Given the description of an element on the screen output the (x, y) to click on. 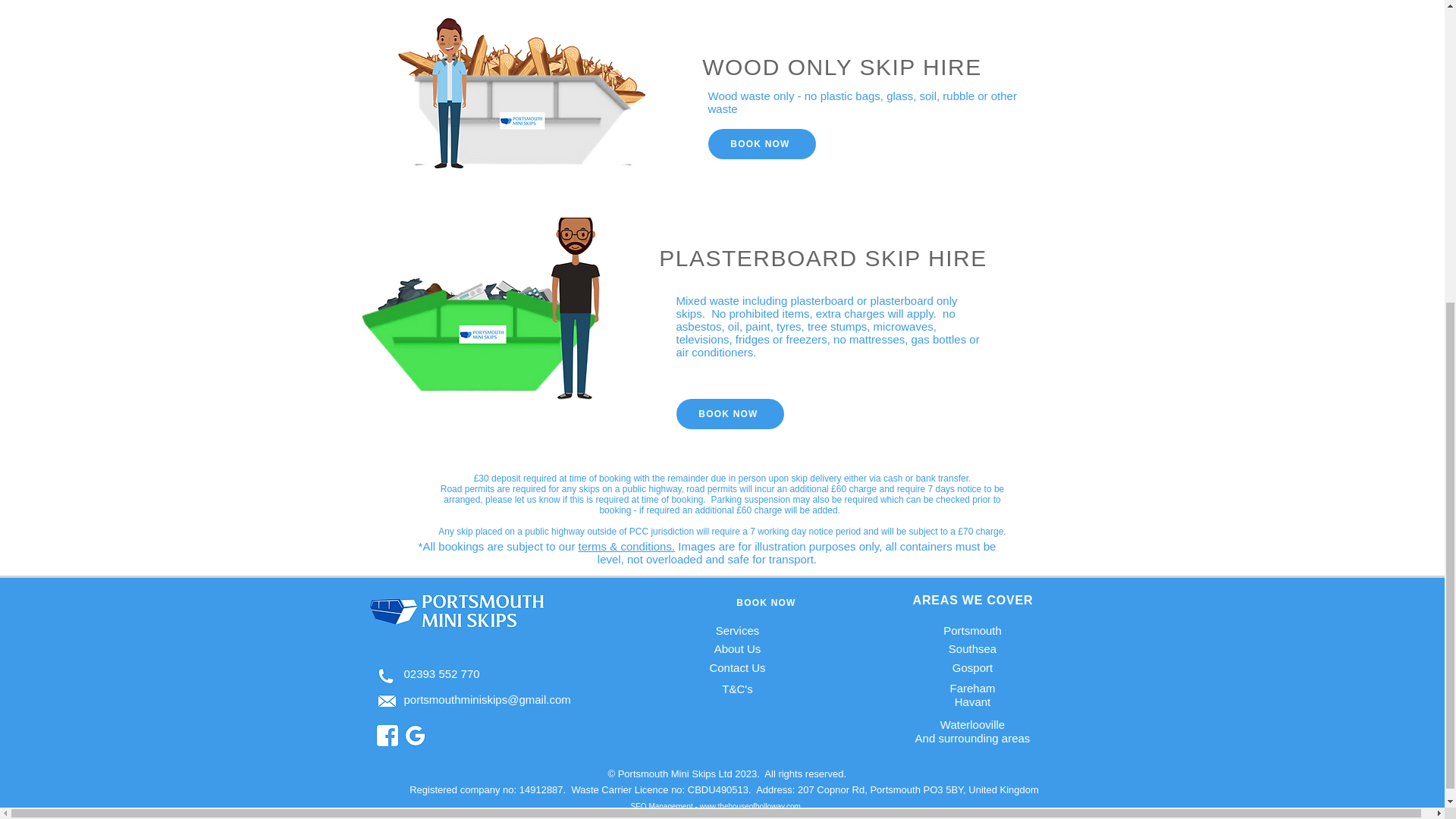
Services (738, 630)
Contact Us (737, 667)
02393 552 770 (441, 673)
AREAS WE COVER (972, 599)
LINKS (737, 599)
SEO Management (662, 806)
BOOK NOW (730, 413)
BOOK NOW (761, 143)
About Us (737, 648)
BOOK NOW (768, 603)
www.thehouseofholloway.com (750, 806)
